Given the description of an element on the screen output the (x, y) to click on. 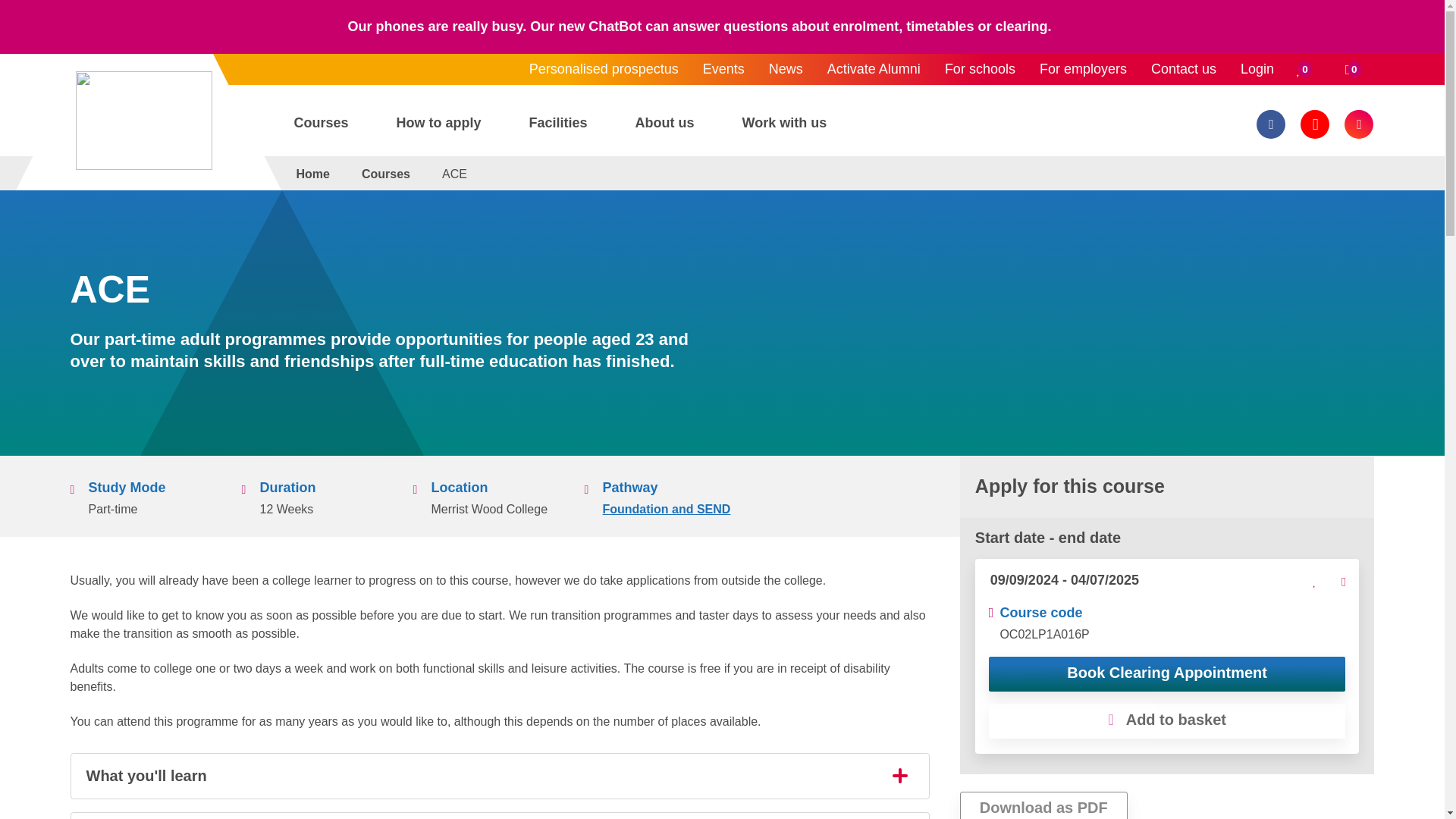
0 (1353, 69)
Events (723, 69)
For schools (980, 69)
Activate Alumni (873, 69)
Login (1257, 69)
Courses (325, 126)
Contact us (1183, 69)
0 (1303, 69)
Personalised prospectus (603, 69)
Merrist Wood College (143, 120)
